Given the description of an element on the screen output the (x, y) to click on. 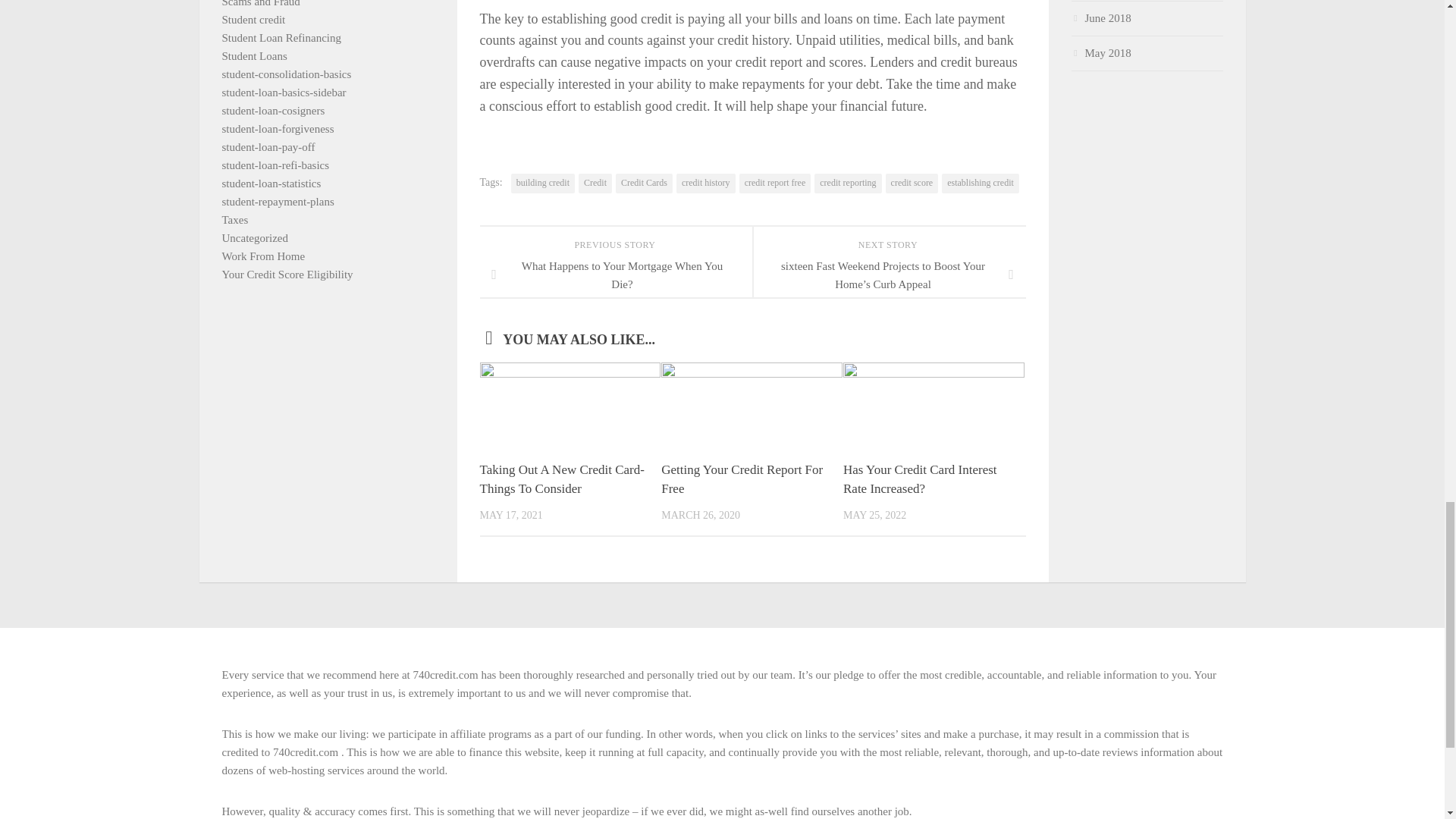
Has Your Credit Card Interest Rate Increased? (920, 479)
credit reporting (846, 183)
credit report free (774, 183)
credit history (706, 183)
Credit Cards (643, 183)
establishing credit (980, 183)
Getting Your Credit Report For Free (741, 479)
What Happens to Your Mortgage When You Die? (615, 275)
Credit (594, 183)
credit score (912, 183)
